Given the description of an element on the screen output the (x, y) to click on. 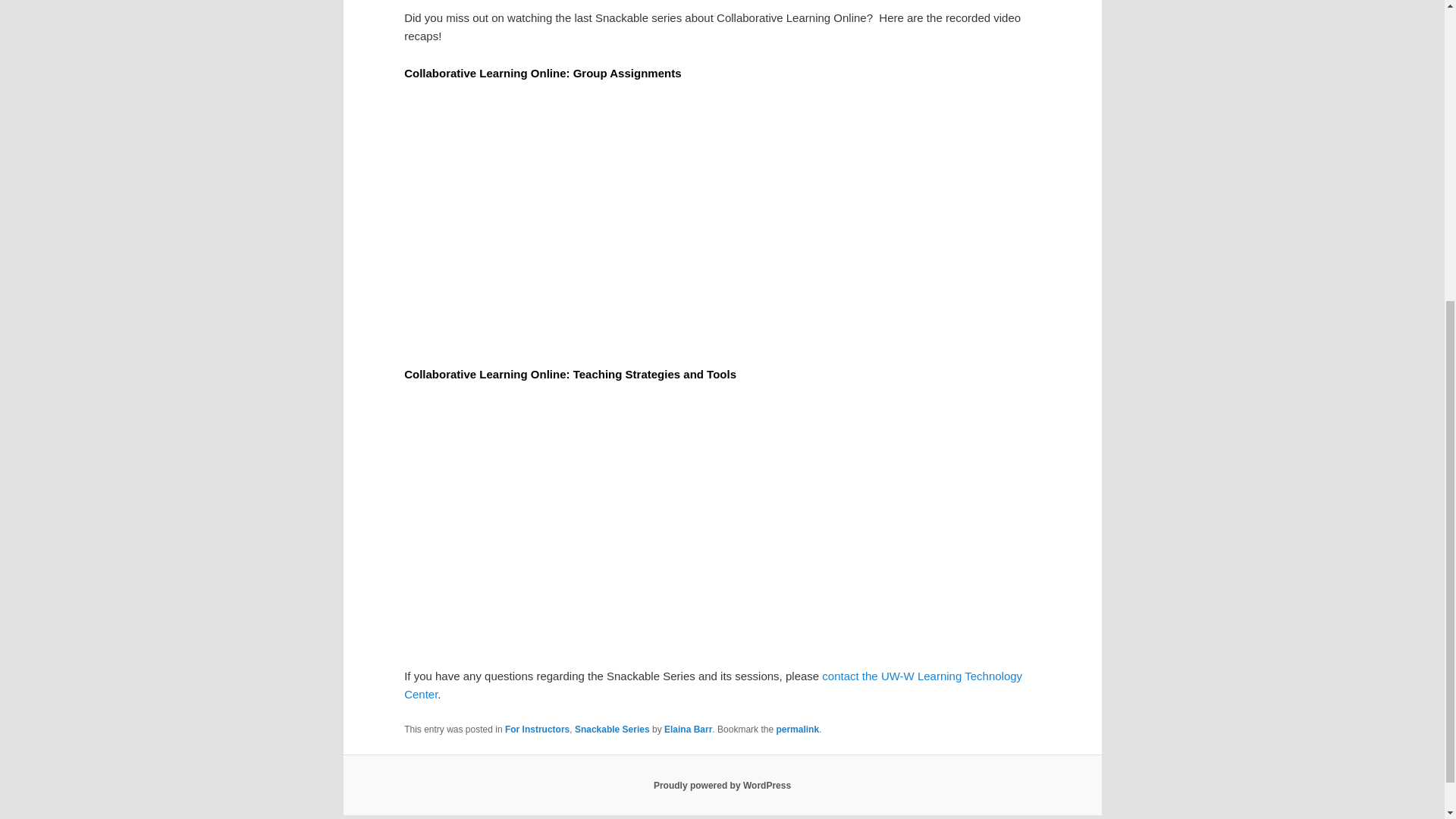
Proudly powered by WordPress (721, 785)
Elaina Barr (687, 728)
contact the UW-W Learning Technology Center (713, 685)
For Instructors (537, 728)
Permalink to Fall 2014 Snackable Series Recap (797, 728)
permalink (797, 728)
Snackable Series (612, 728)
Semantic Personal Publishing Platform (721, 785)
